Given the description of an element on the screen output the (x, y) to click on. 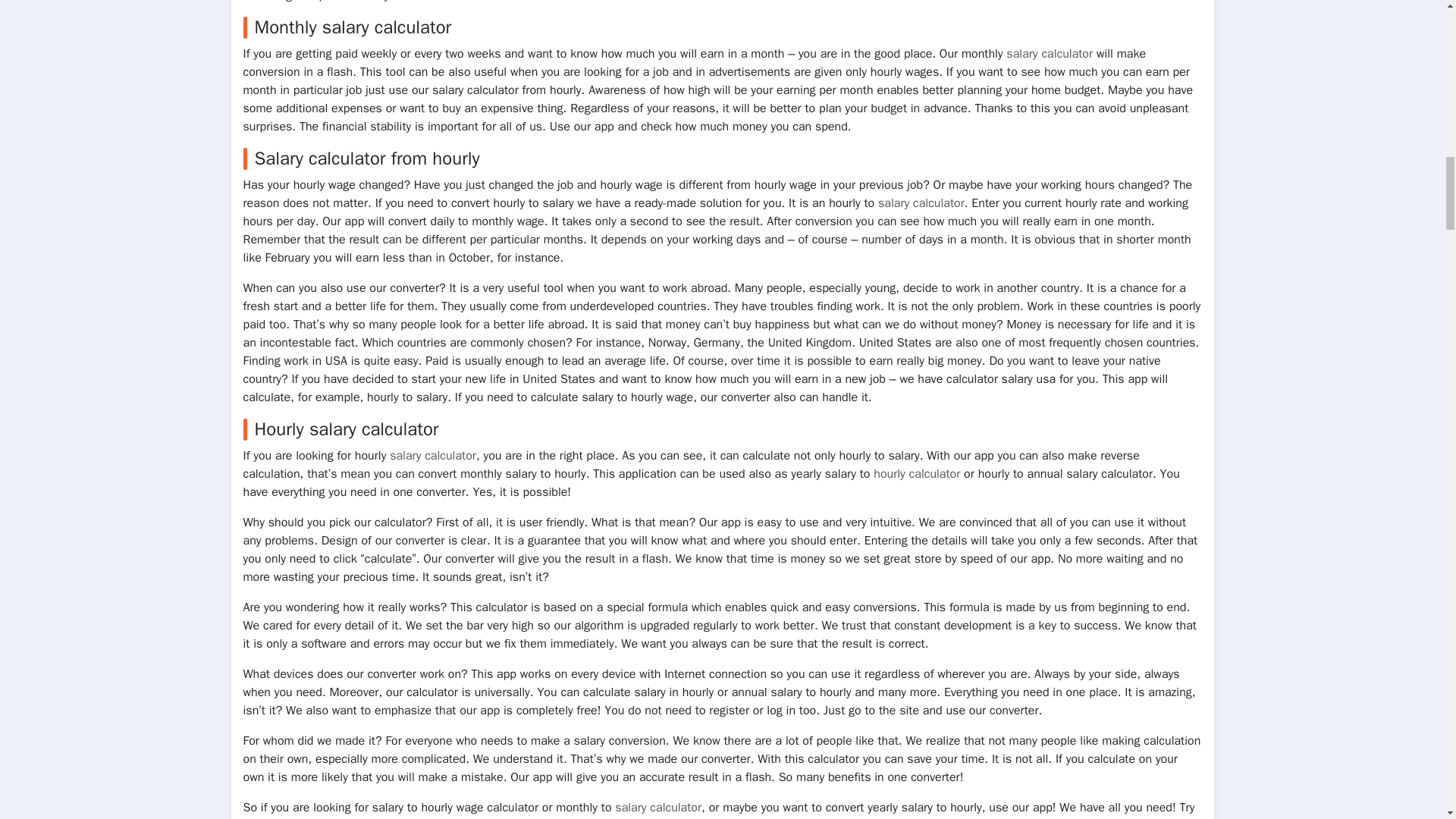
salary calculator (657, 807)
hourly calculator (916, 473)
salary calculator (433, 455)
salary calculator (1049, 53)
salary calculator (920, 202)
